Given the description of an element on the screen output the (x, y) to click on. 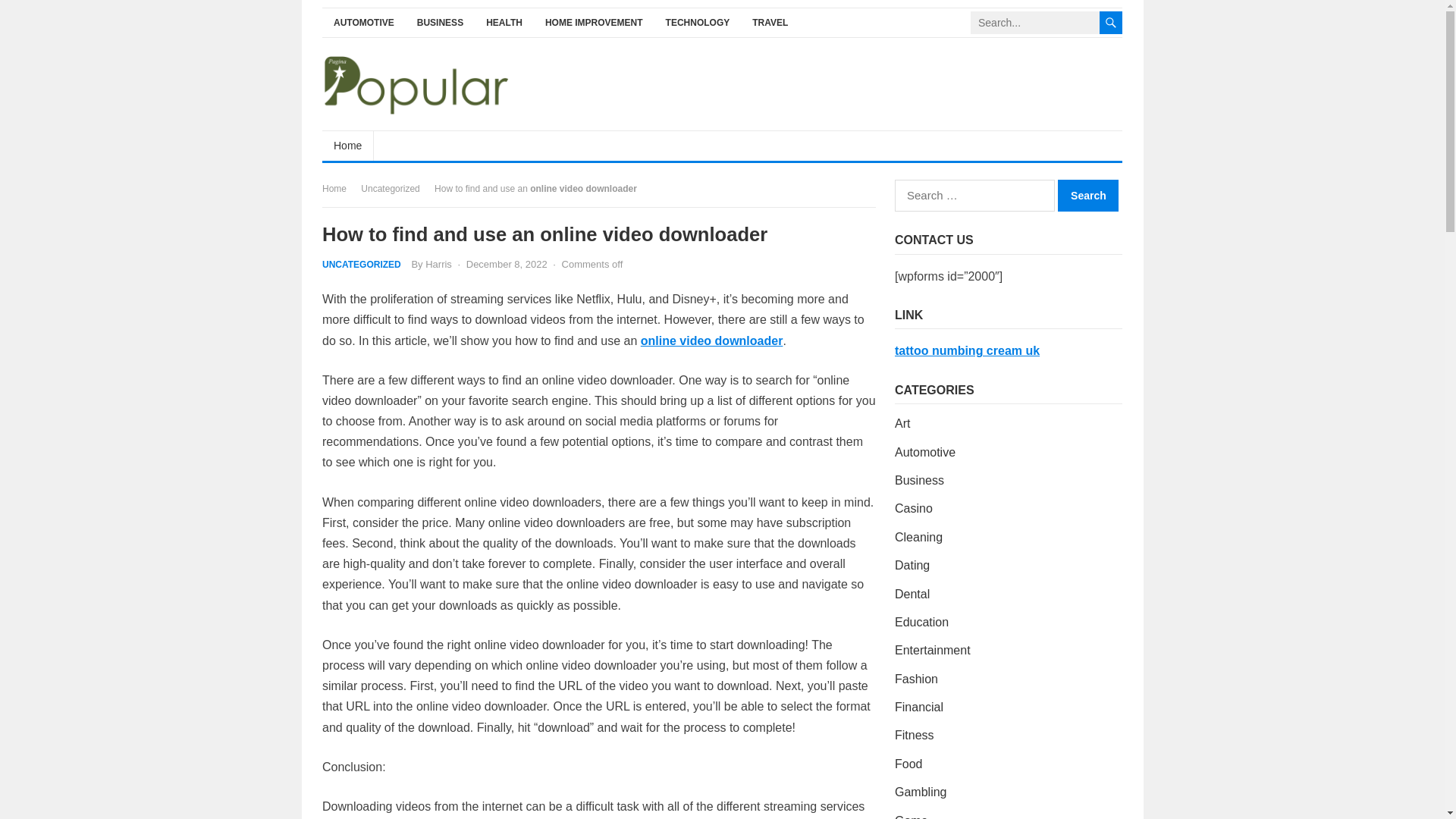
AUTOMOTIVE (363, 22)
Home (347, 145)
TRAVEL (770, 22)
Search (1088, 195)
online video downloader (711, 340)
BUSINESS (440, 22)
Home (338, 188)
UNCATEGORIZED (361, 264)
Posts by Harris (438, 264)
Search (1088, 195)
